Given the description of an element on the screen output the (x, y) to click on. 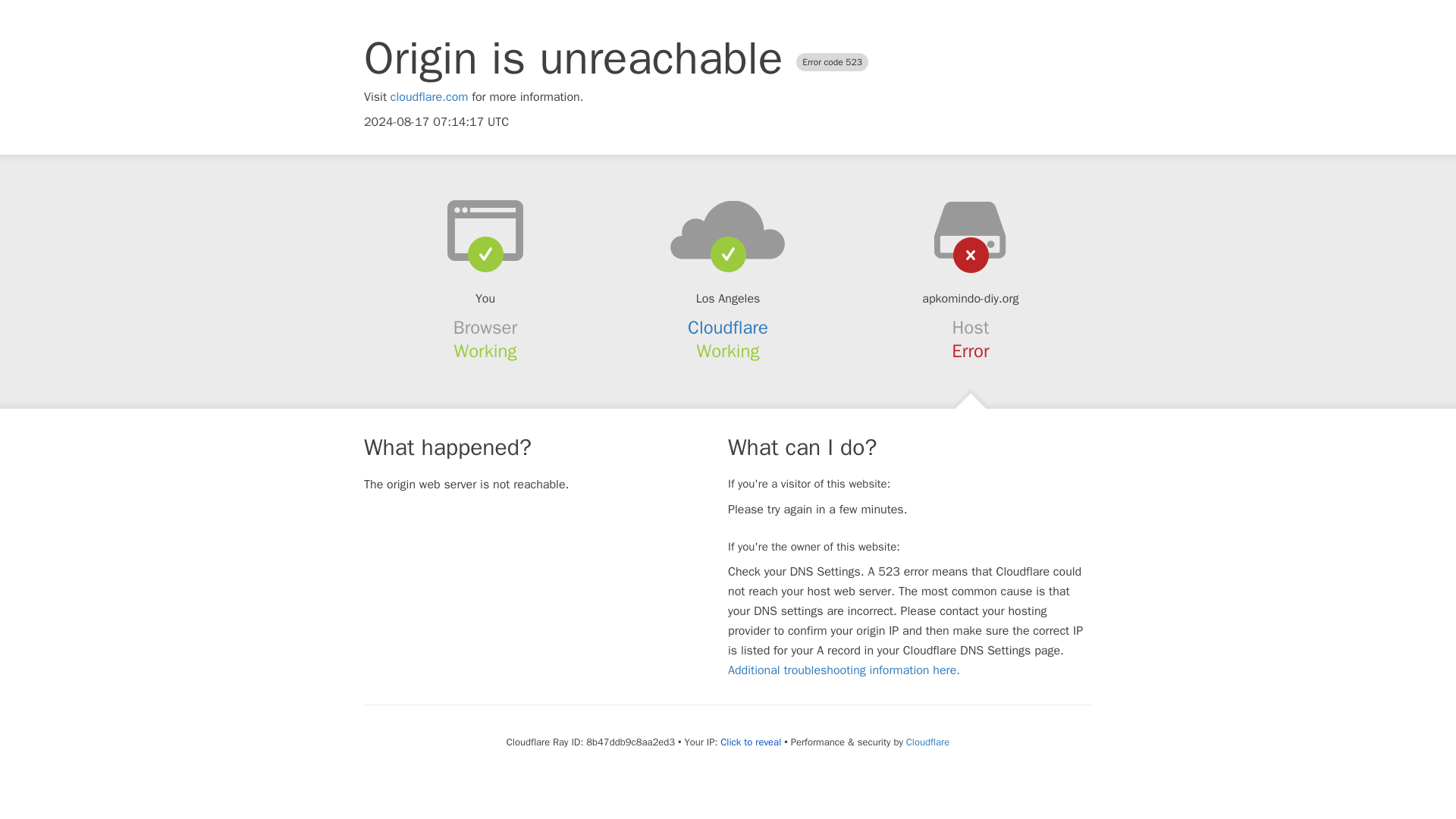
Click to reveal (750, 742)
cloudflare.com (429, 96)
Cloudflare (727, 327)
Cloudflare (927, 741)
Additional troubleshooting information here. (843, 670)
